Given the description of an element on the screen output the (x, y) to click on. 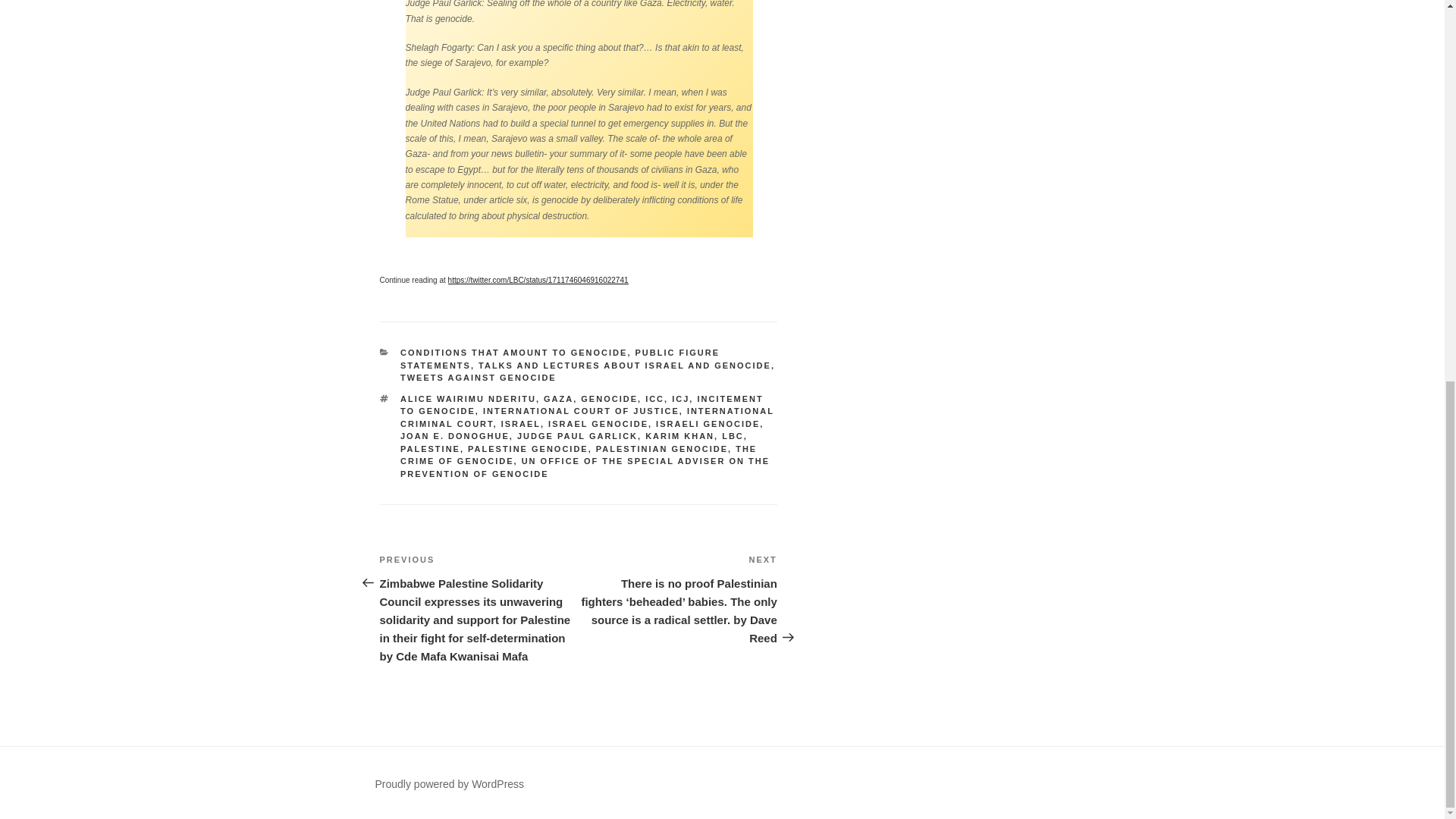
PALESTINE (430, 448)
JUDGE PAUL GARLICK (576, 435)
KARIM KHAN (679, 435)
TALKS AND LECTURES ABOUT ISRAEL AND GENOCIDE (625, 365)
PUBLIC FIGURE STATEMENTS (559, 359)
ISRAEL (520, 423)
LBC (733, 435)
PALESTINIAN GENOCIDE (661, 448)
INCITEMENT TO GENOCIDE (581, 404)
CONDITIONS THAT AMOUNT TO GENOCIDE (513, 352)
TWEETS AGAINST GENOCIDE (478, 377)
ICJ (679, 398)
INTERNATIONAL COURT OF JUSTICE (581, 410)
GAZA (558, 398)
THE CRIME OF GENOCIDE (578, 455)
